Given the description of an element on the screen output the (x, y) to click on. 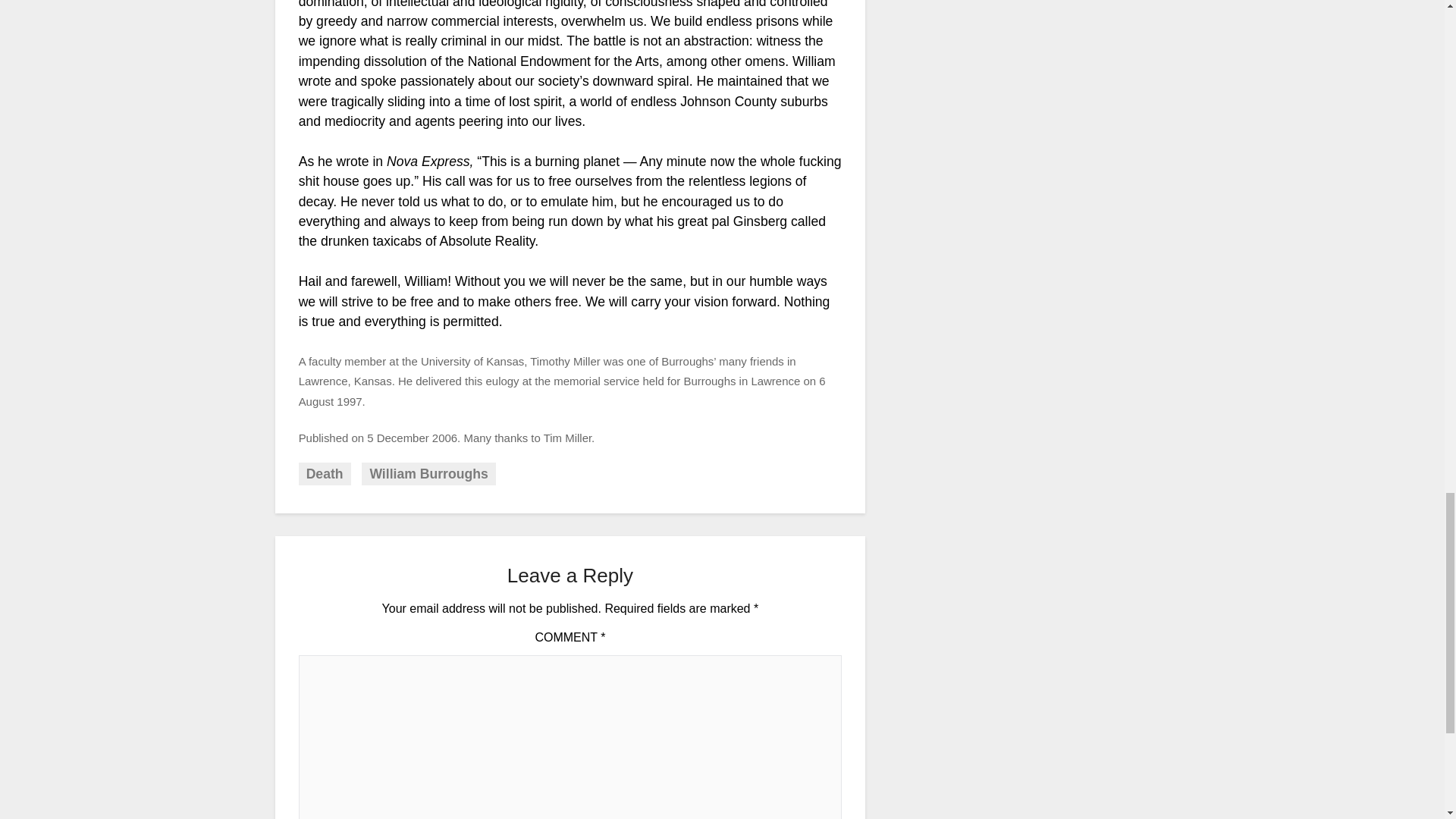
Death (324, 473)
William Burroughs (428, 473)
